Given the description of an element on the screen output the (x, y) to click on. 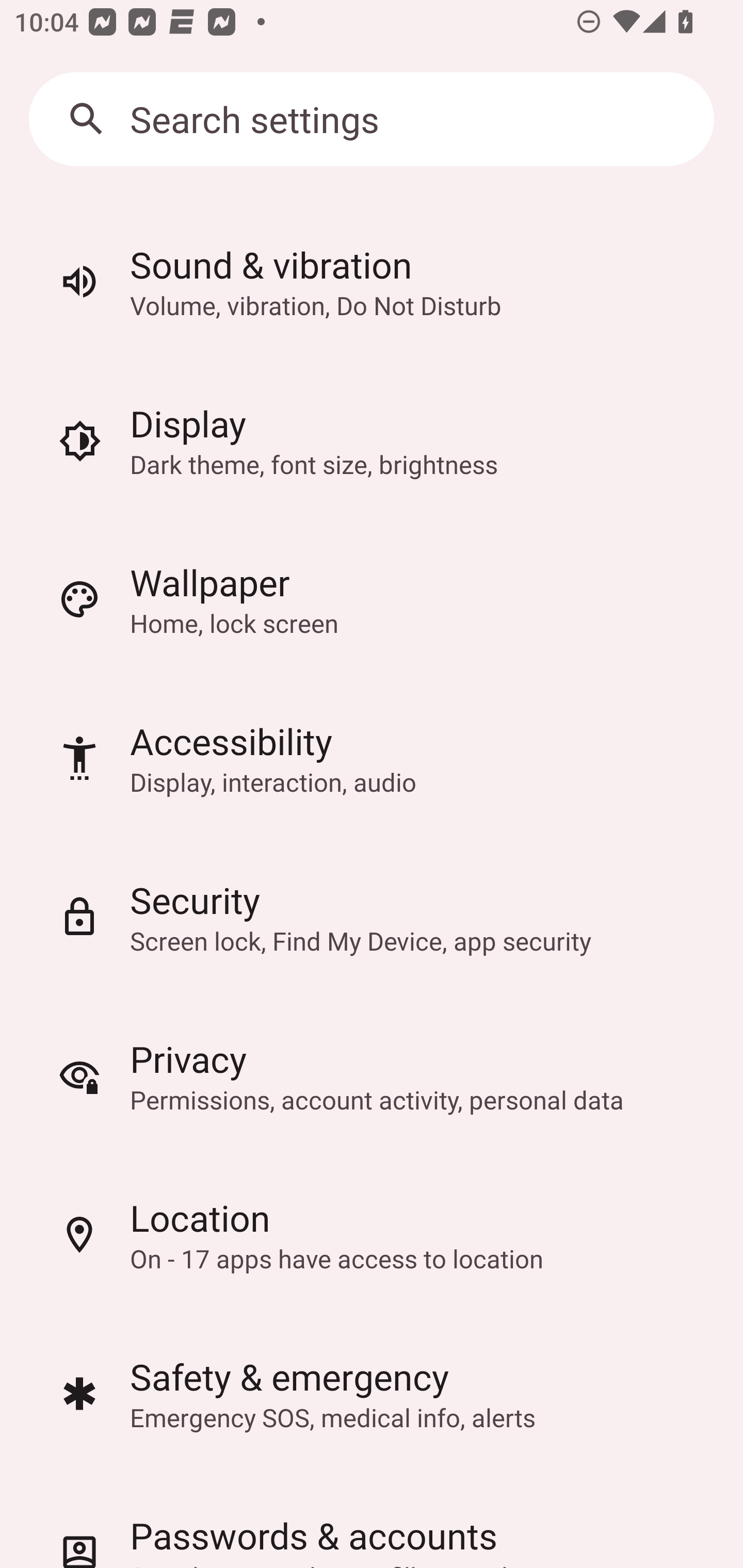
Search settings (371, 119)
Display Dark theme, font size, brightness (371, 440)
Wallpaper Home, lock screen (371, 599)
Accessibility Display, interaction, audio (371, 757)
Security Screen lock, Find My Device, app security (371, 917)
Location On - 17 apps have access to location (371, 1234)
